Given the description of an element on the screen output the (x, y) to click on. 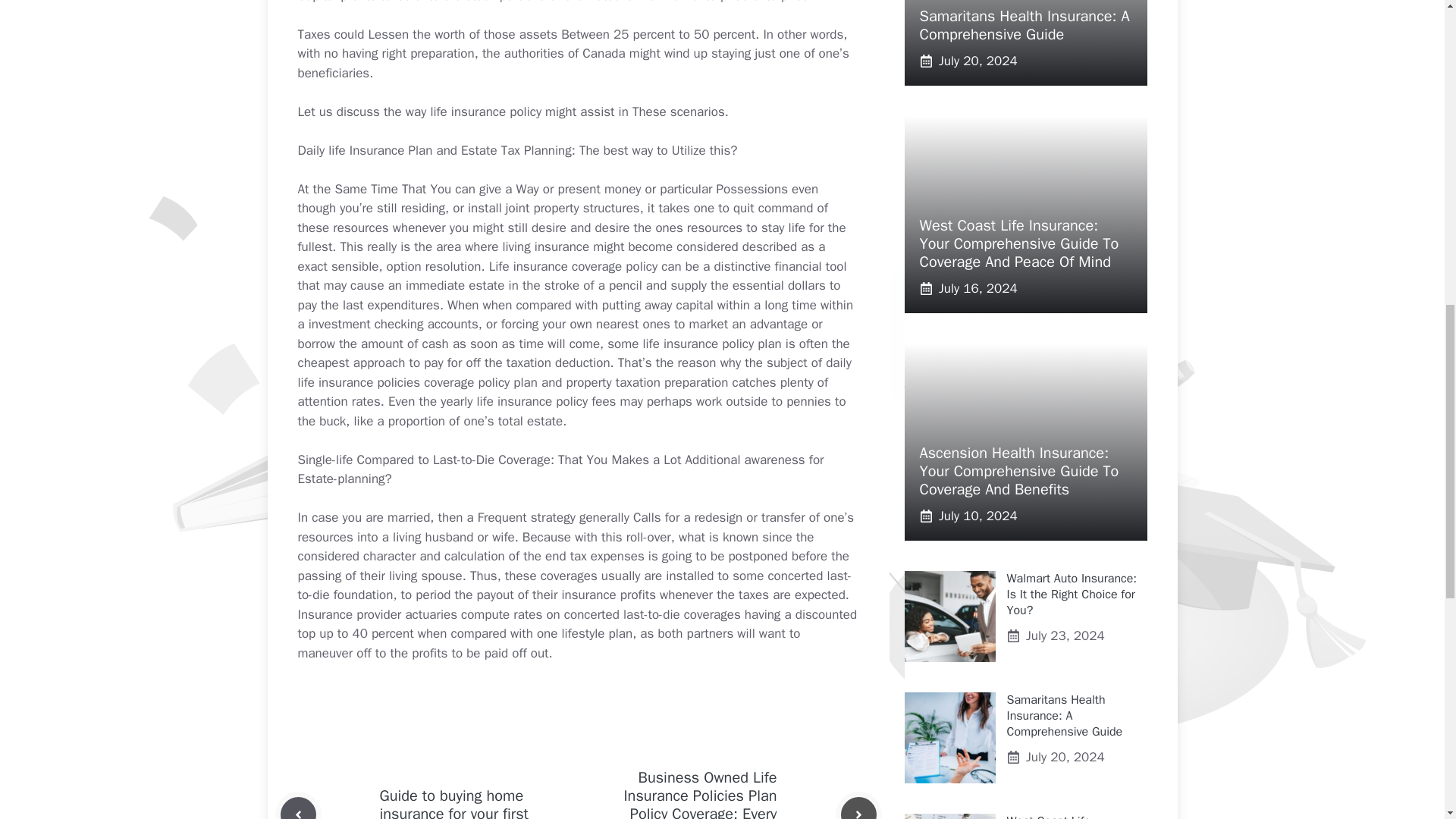
Guide to buying home insurance for your first time (453, 802)
Samaritans Health Insurance: A Comprehensive Guide (1023, 25)
Scroll back to top (1406, 720)
Walmart Auto Insurance: Is It the Right Choice for You? (1072, 594)
Samaritans Health Insurance: A Comprehensive Guide (1064, 715)
